Given the description of an element on the screen output the (x, y) to click on. 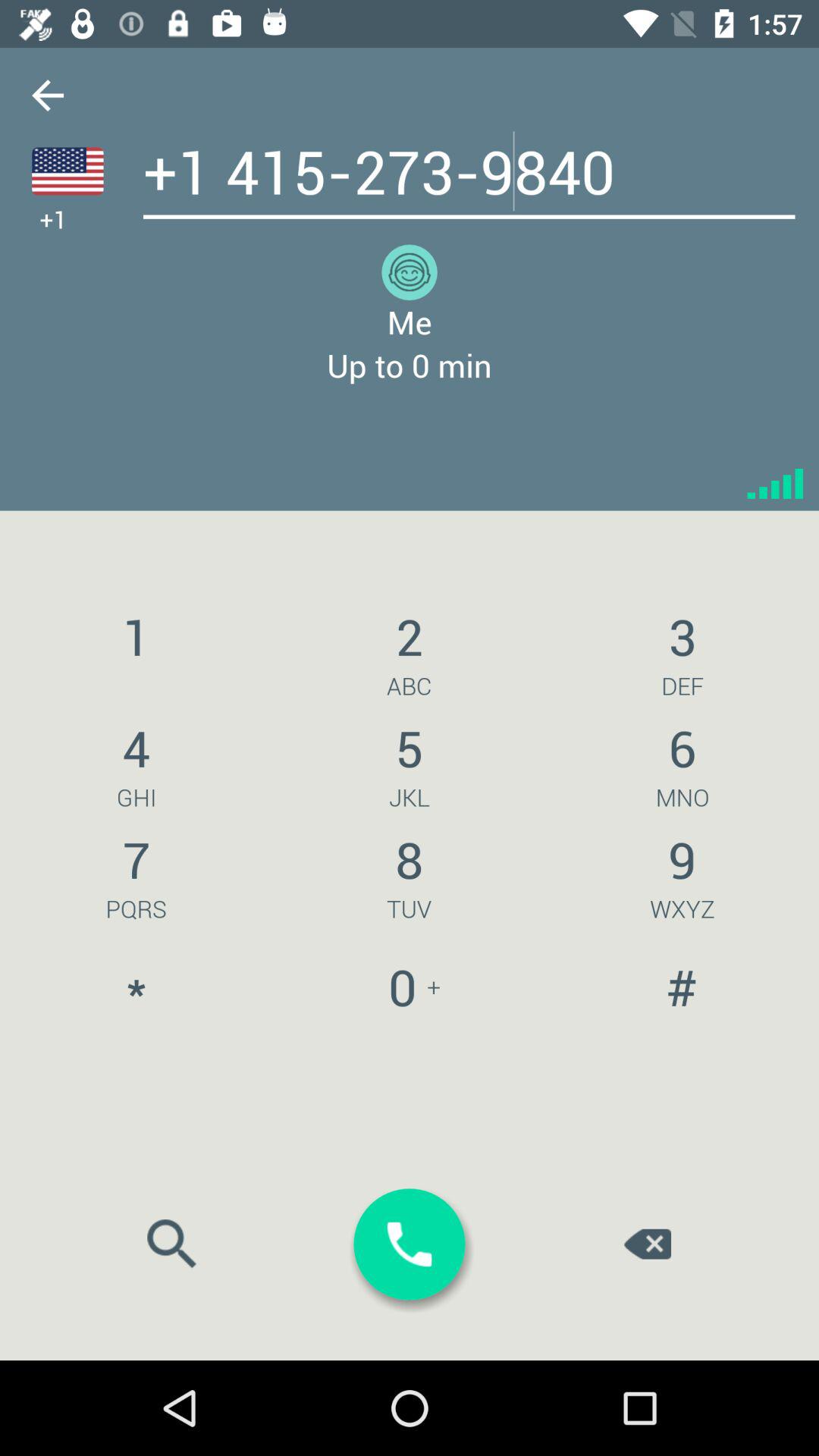
call the number (409, 1244)
